Given the description of an element on the screen output the (x, y) to click on. 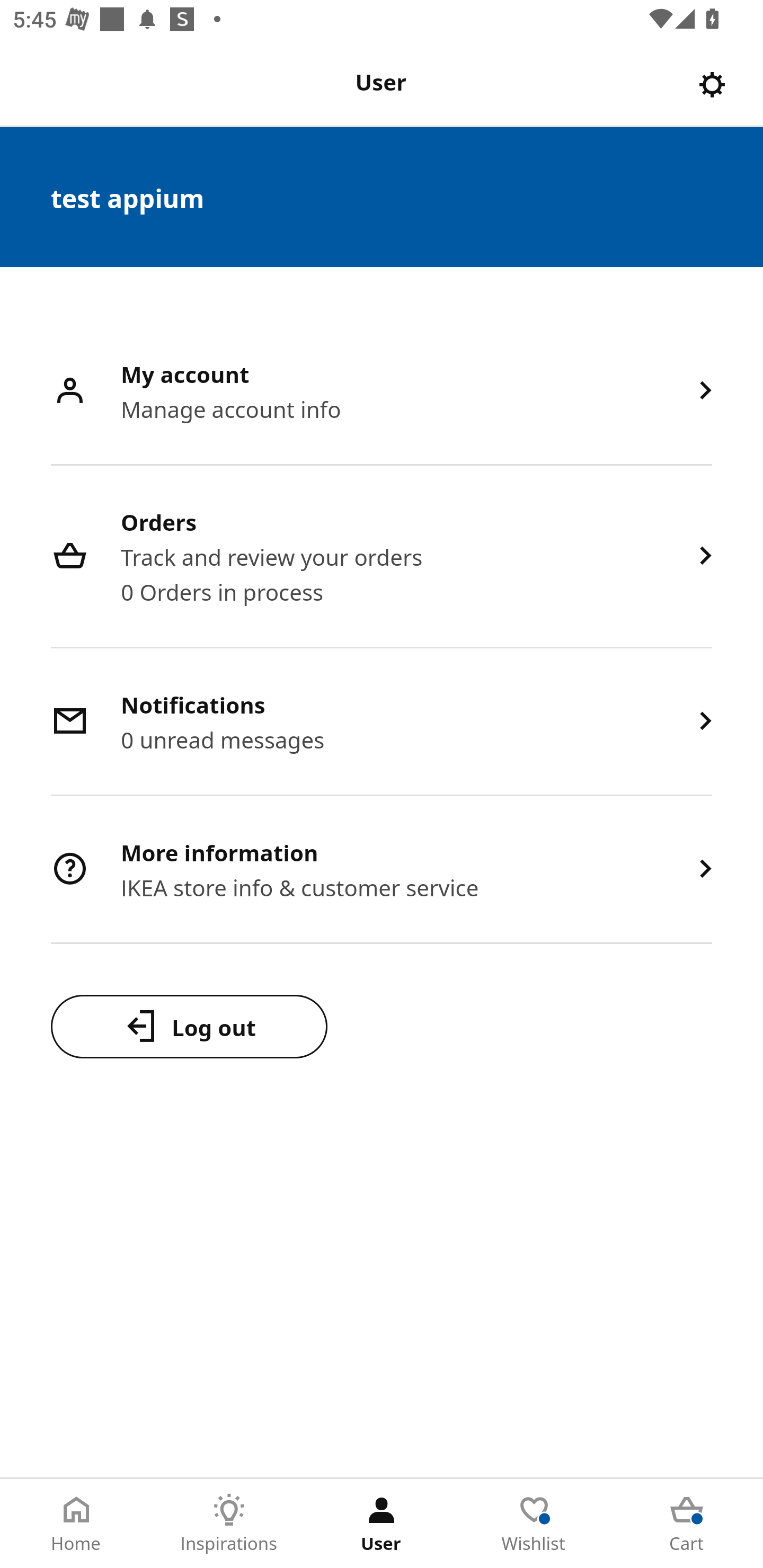
My account
Manage account info (381, 391)
Notifications
0 unread messages (381, 722)
Log out (189, 1026)
Home
Tab 1 of 5 (76, 1522)
Inspirations
Tab 2 of 5 (228, 1522)
User
Tab 3 of 5 (381, 1522)
Wishlist
Tab 4 of 5 (533, 1522)
Cart
Tab 5 of 5 (686, 1522)
